Given the description of an element on the screen output the (x, y) to click on. 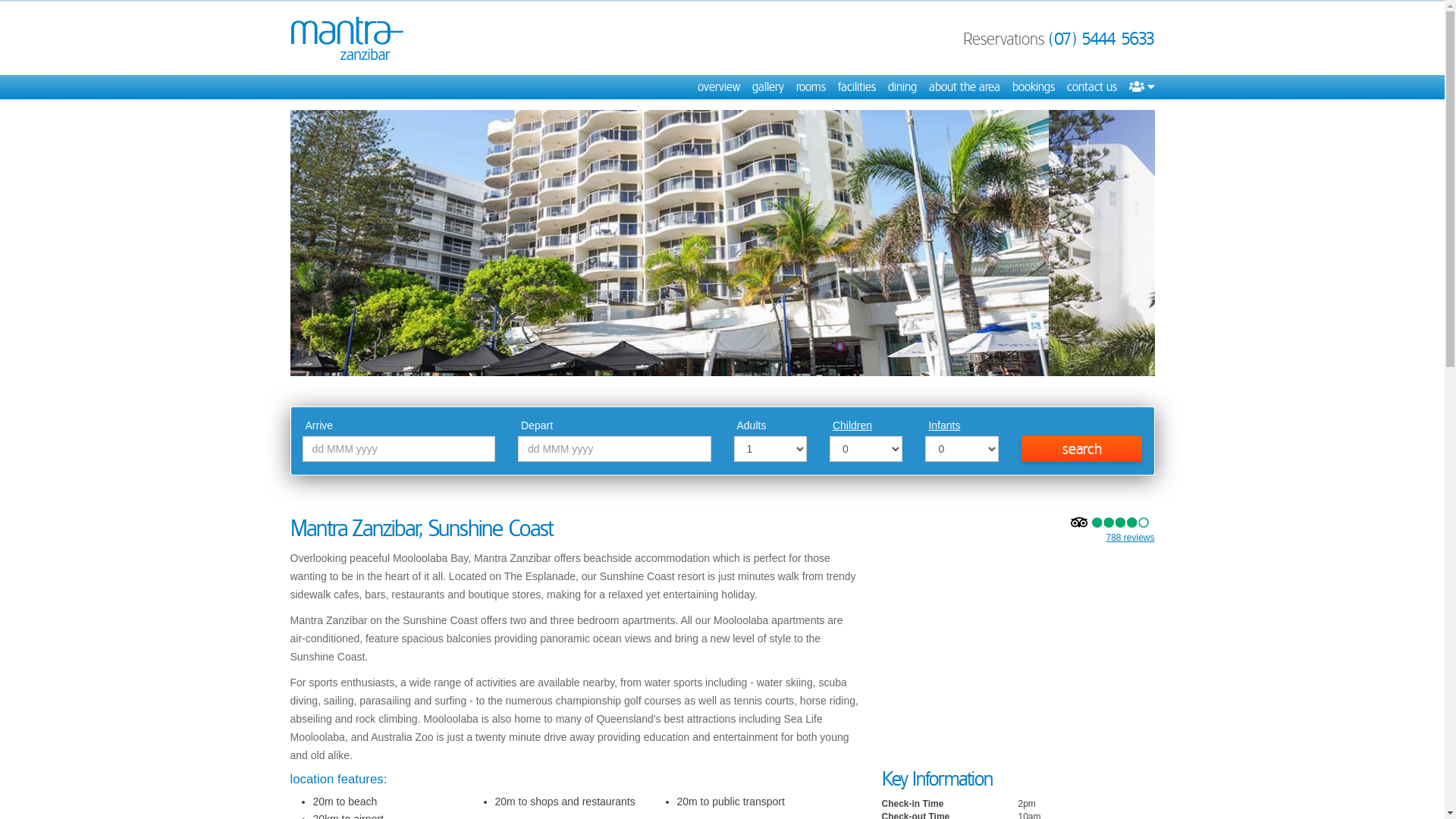
bookings Element type: text (1032, 87)
overview Element type: text (718, 87)
Mantra Zanzibar Element type: hover (346, 37)
gallery Element type: text (768, 87)
(07) 5444 5633 Element type: text (1101, 38)
788 reviews Element type: text (1129, 537)
dining Element type: text (901, 87)
facilities Element type: text (856, 87)
search Element type: text (1081, 448)
rooms Element type: text (810, 87)
Building-Mantra Zanzibar Element type: hover (721, 242)
about the area Element type: text (963, 87)
contact us Element type: text (1091, 87)
